Given the description of an element on the screen output the (x, y) to click on. 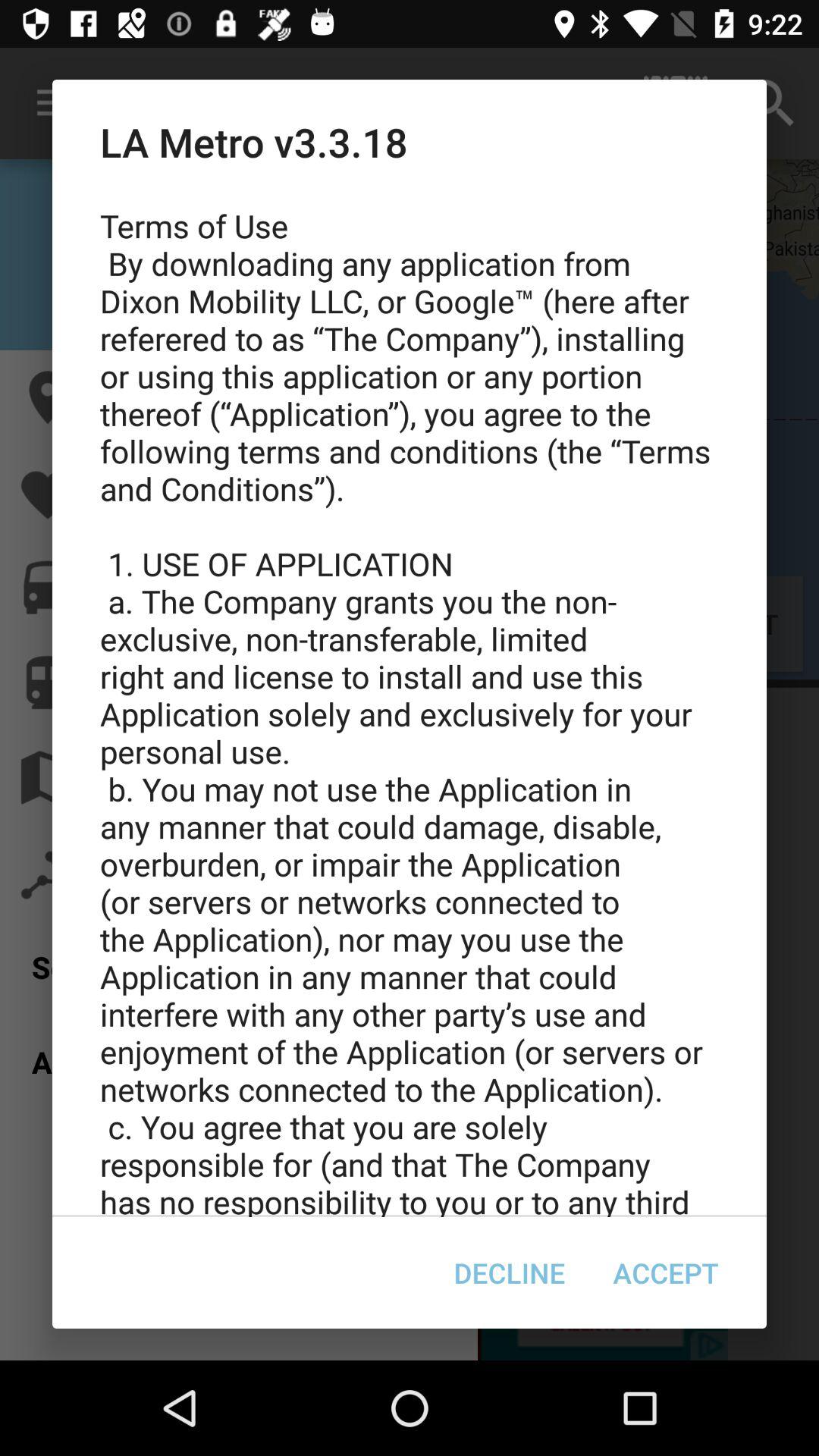
tap the decline (509, 1272)
